Given the description of an element on the screen output the (x, y) to click on. 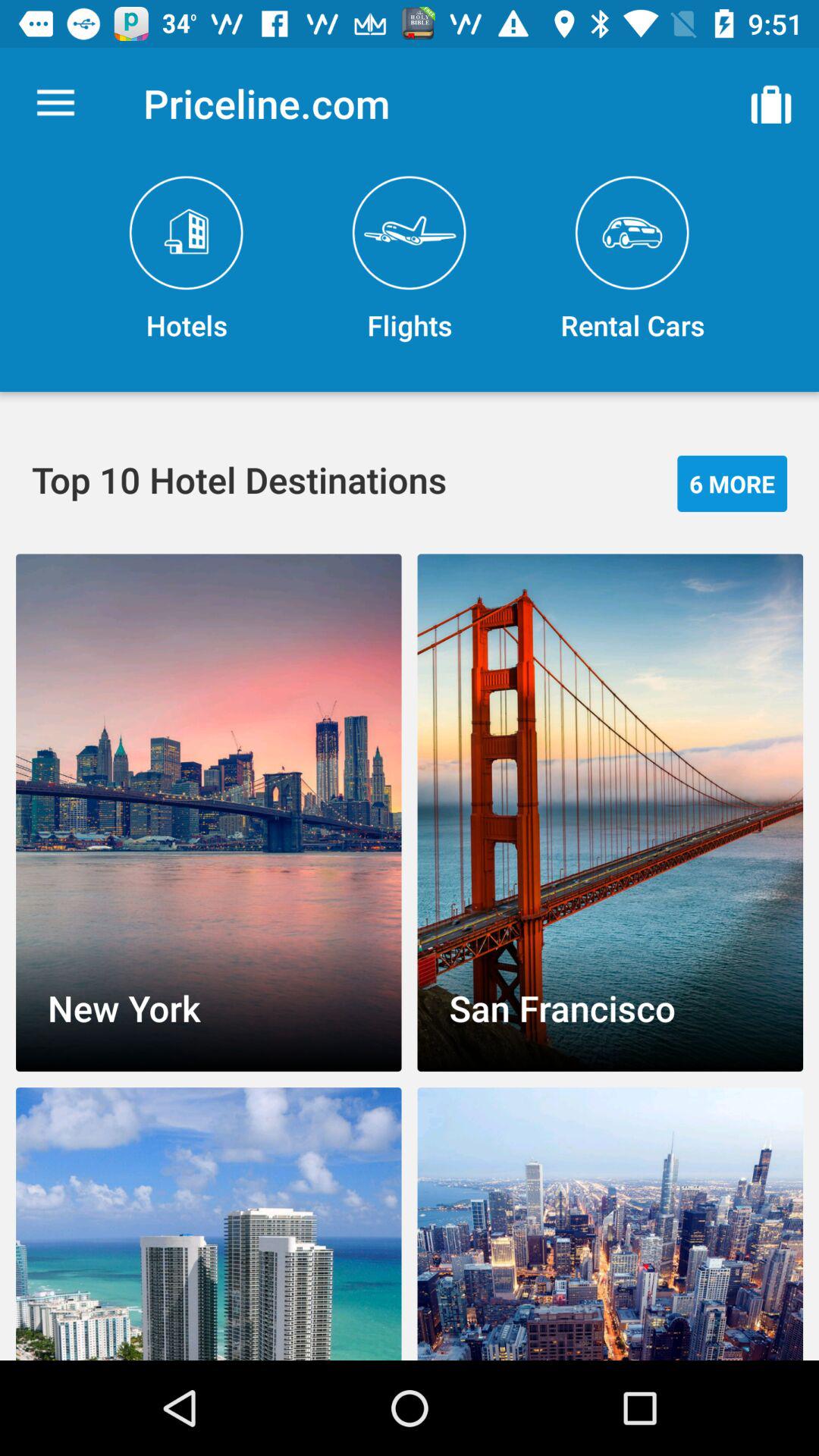
turn on the item next to the hotels item (409, 259)
